Given the description of an element on the screen output the (x, y) to click on. 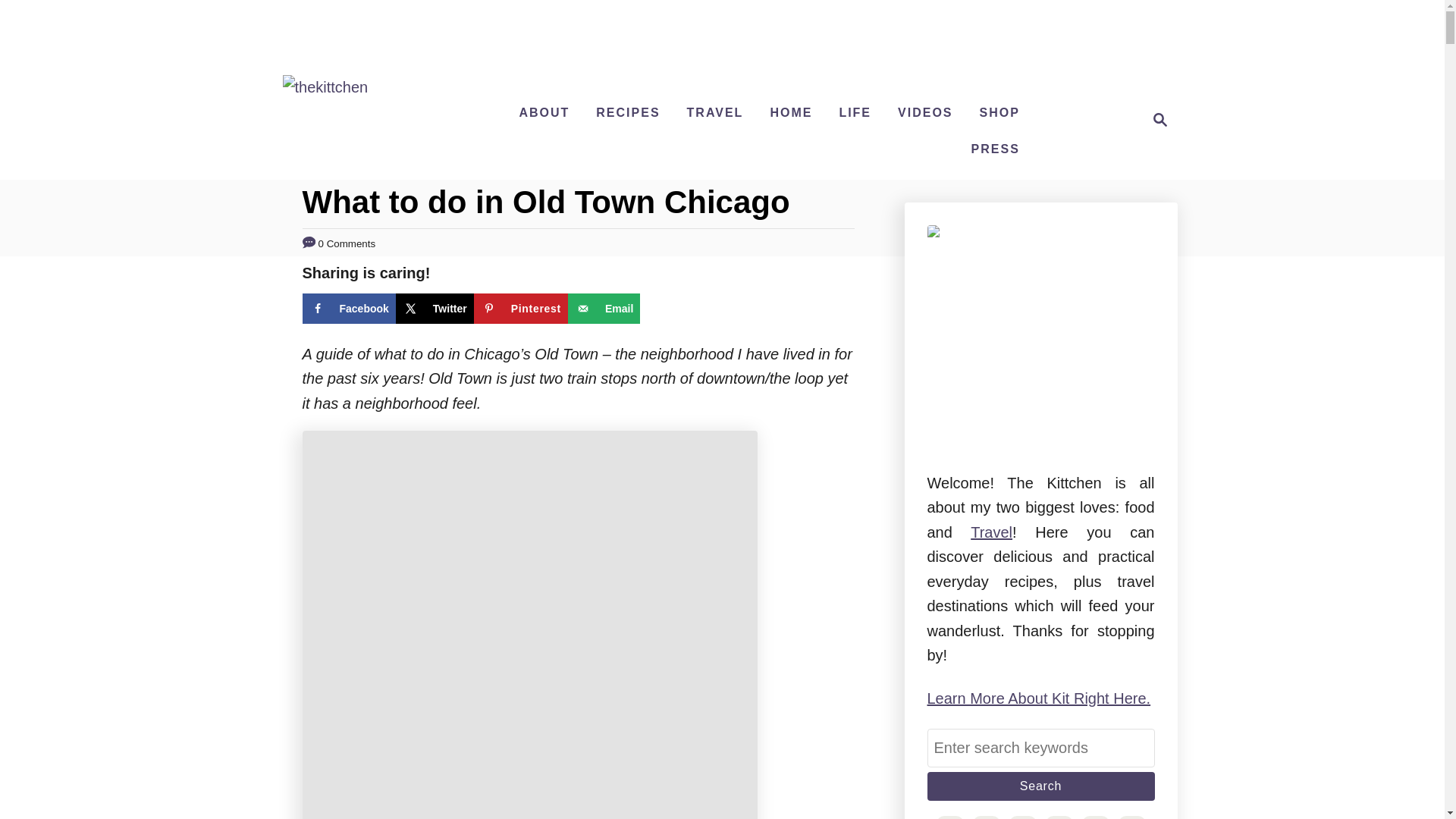
LIFE (855, 112)
Save to Pinterest (520, 308)
Pinterest (520, 308)
Email (603, 308)
TRAVEL (715, 112)
VIDEOS (924, 112)
thekittchen (325, 89)
HOME (790, 112)
Twitter (435, 308)
Facebook (347, 308)
Search (1040, 786)
Share on X (435, 308)
Magnifying Glass (1160, 119)
PRESS (995, 149)
